Given the description of an element on the screen output the (x, y) to click on. 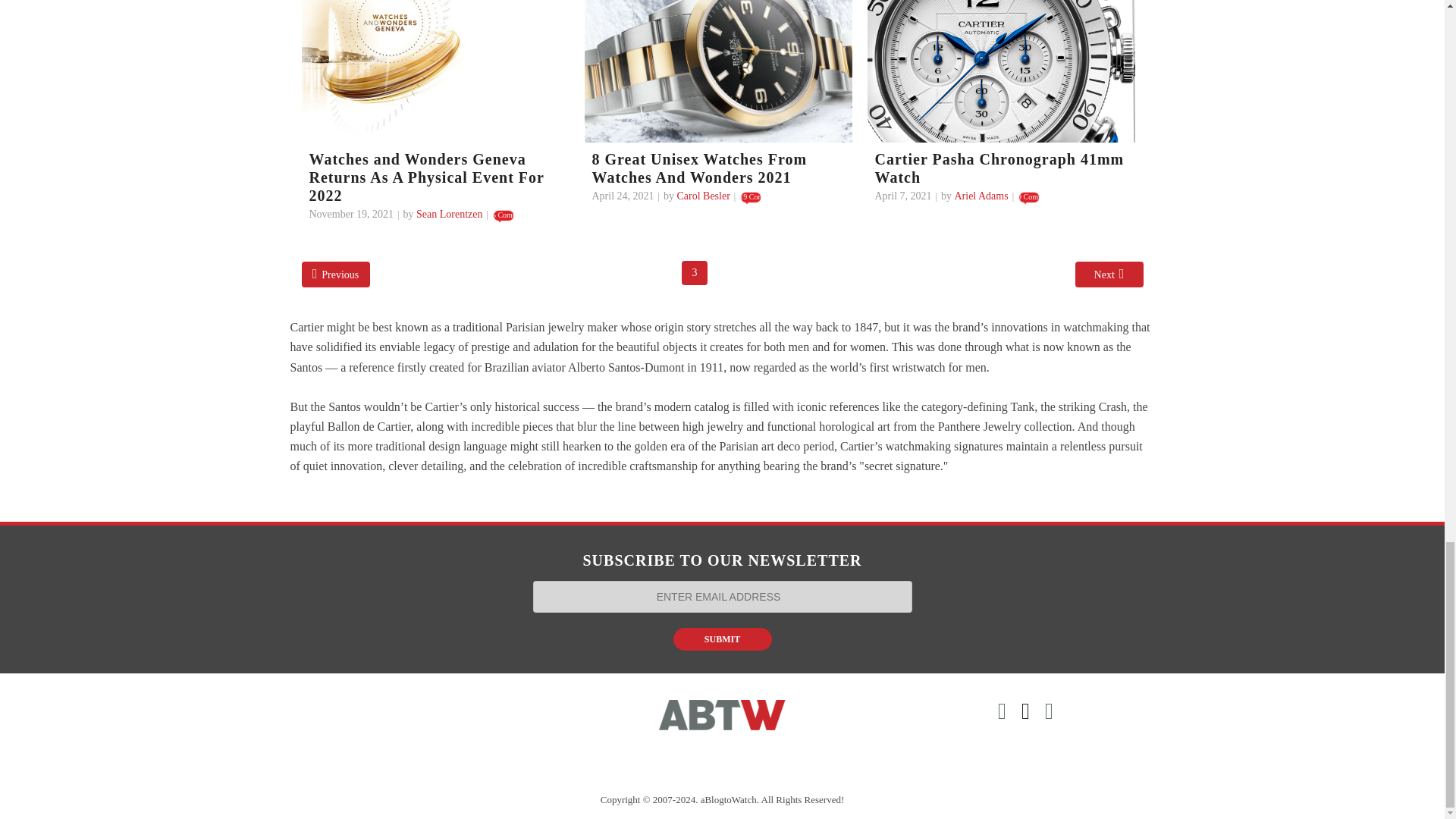
SUBMIT (721, 639)
